Given the description of an element on the screen output the (x, y) to click on. 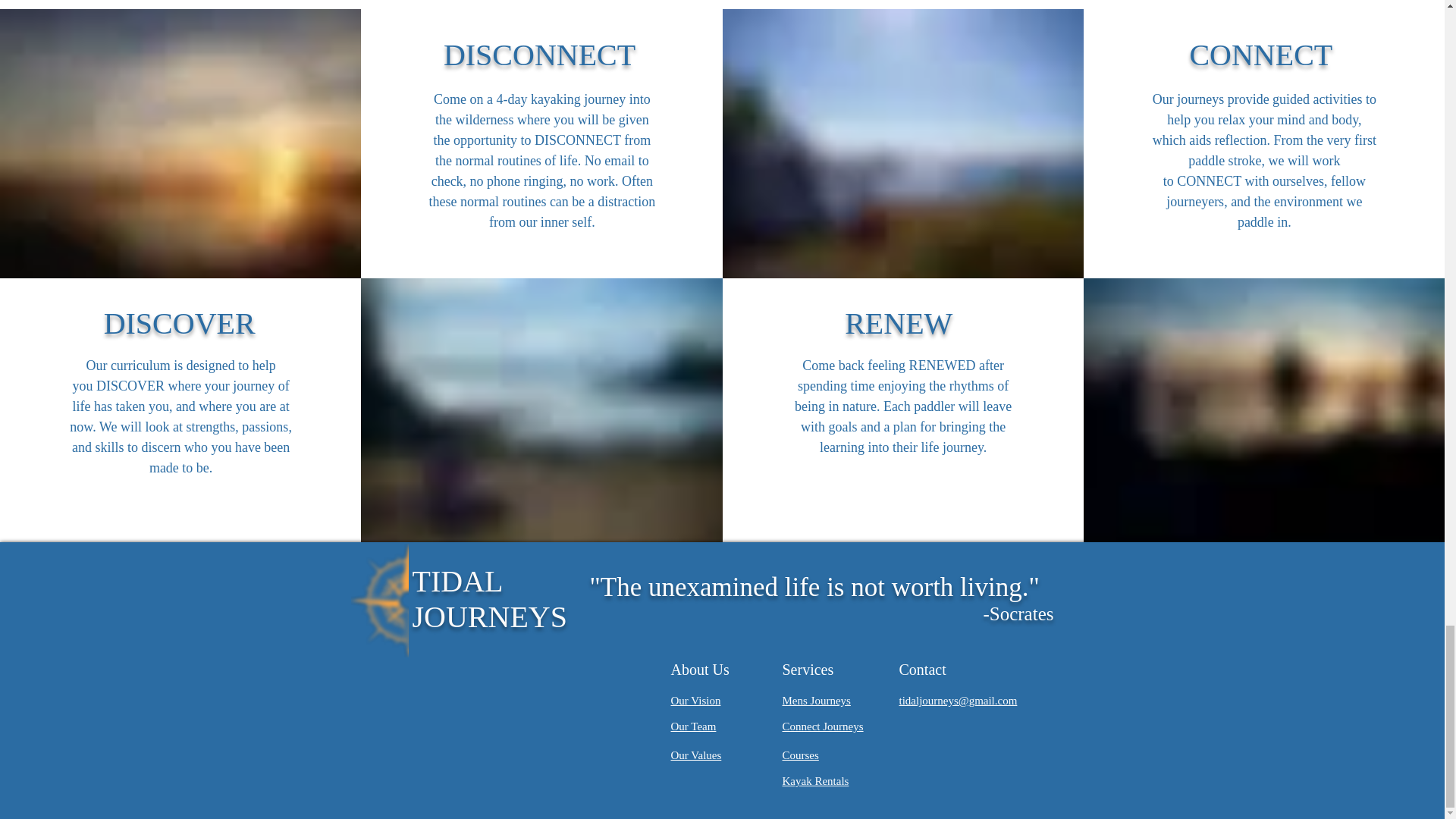
TIDAL JOURNEYS (489, 598)
Kayak Rentals (815, 780)
Our Values (694, 754)
Mens Journeys (816, 699)
Our Vision (694, 699)
Courses (800, 754)
Connect Journeys (823, 725)
Our Team (692, 725)
